Given the description of an element on the screen output the (x, y) to click on. 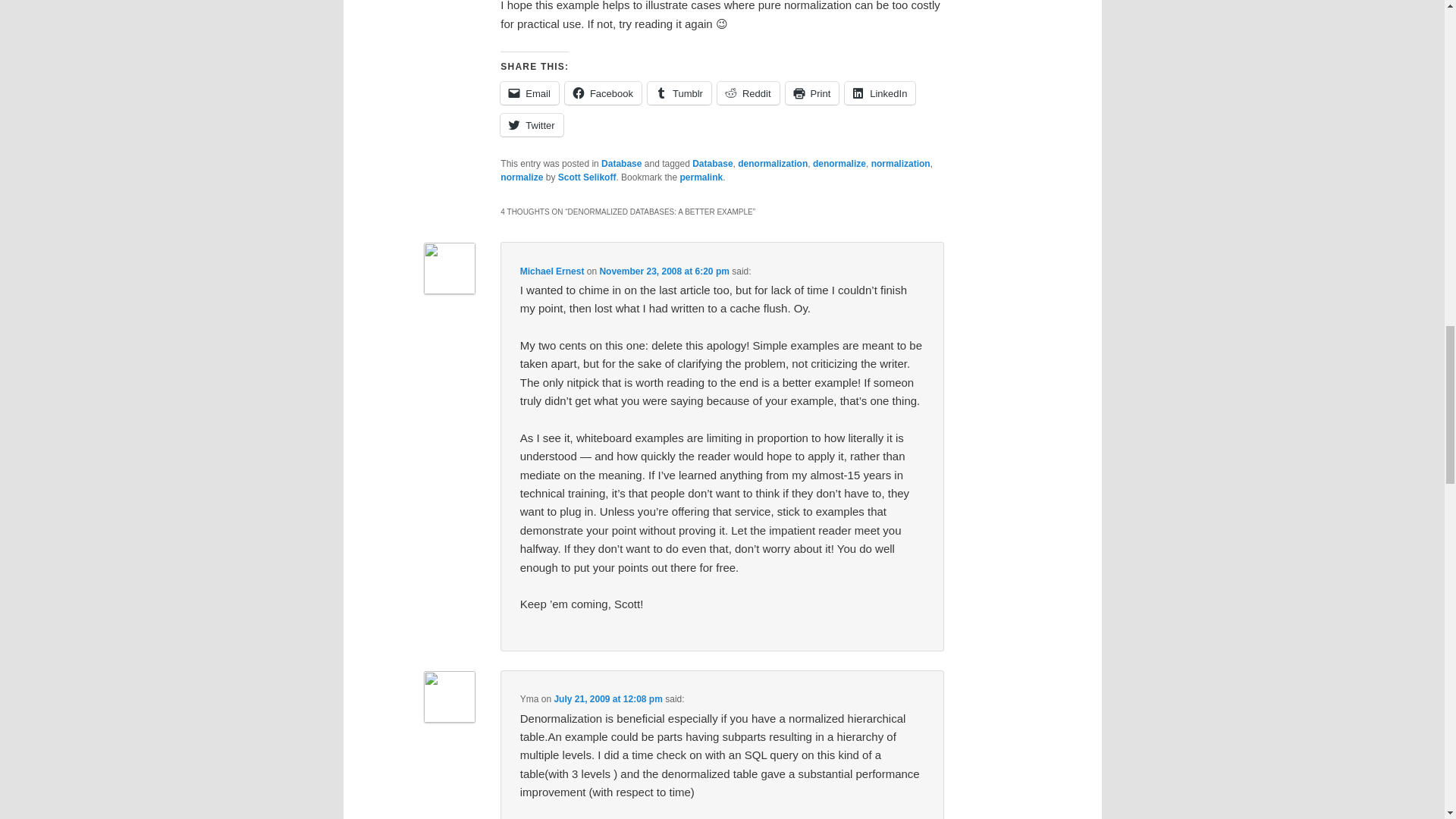
Click to share on Facebook (603, 92)
Print (813, 92)
Click to email a link to a friend (529, 92)
Database (621, 163)
Click to share on Twitter (531, 124)
Reddit (747, 92)
Tumblr (679, 92)
Database (712, 163)
Click to share on Reddit (747, 92)
Click to share on Tumblr (679, 92)
normalization (900, 163)
denormalization (773, 163)
denormalize (839, 163)
Twitter (531, 124)
Click to print (813, 92)
